Given the description of an element on the screen output the (x, y) to click on. 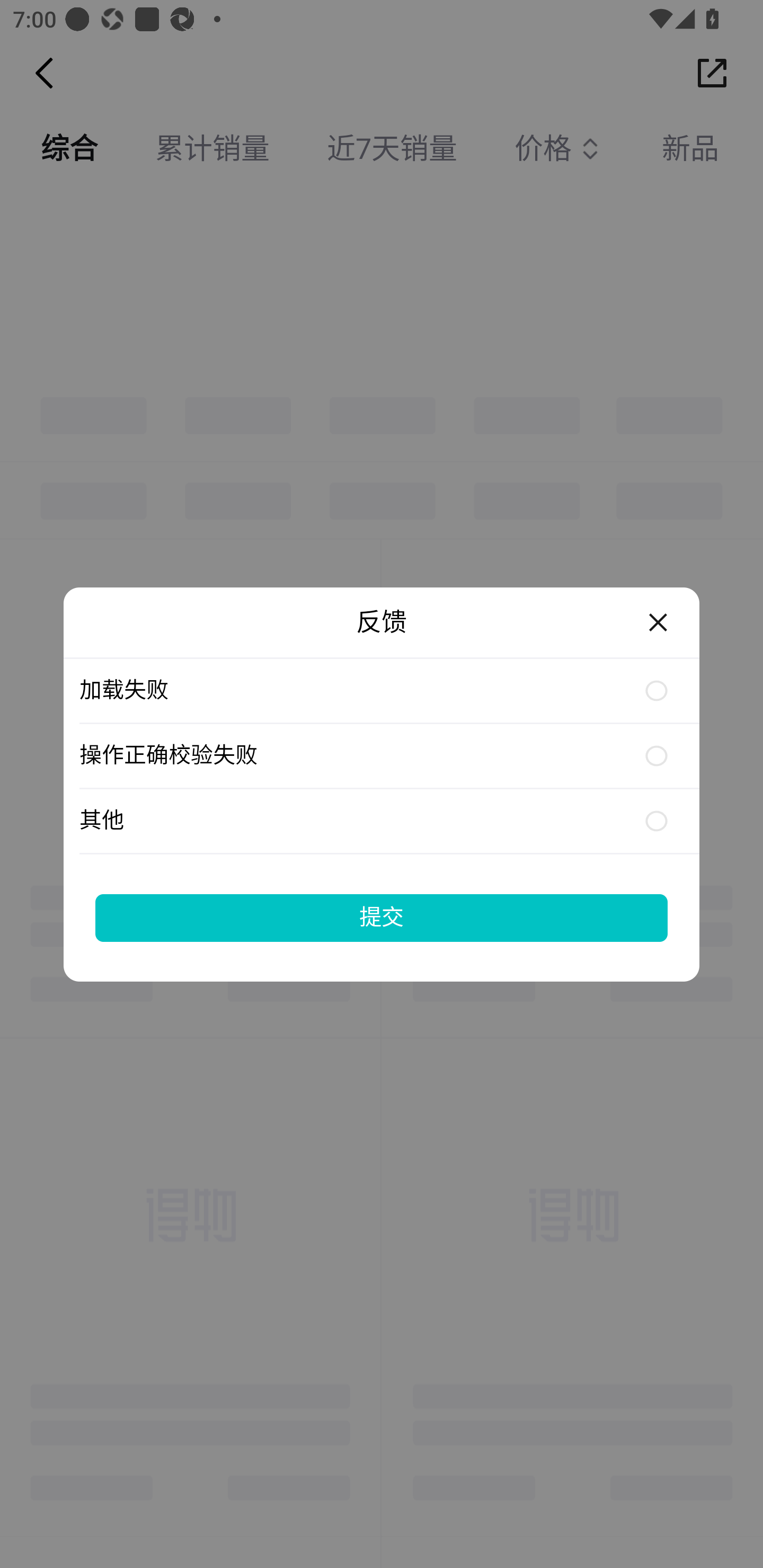
提交 (381, 917)
